Given the description of an element on the screen output the (x, y) to click on. 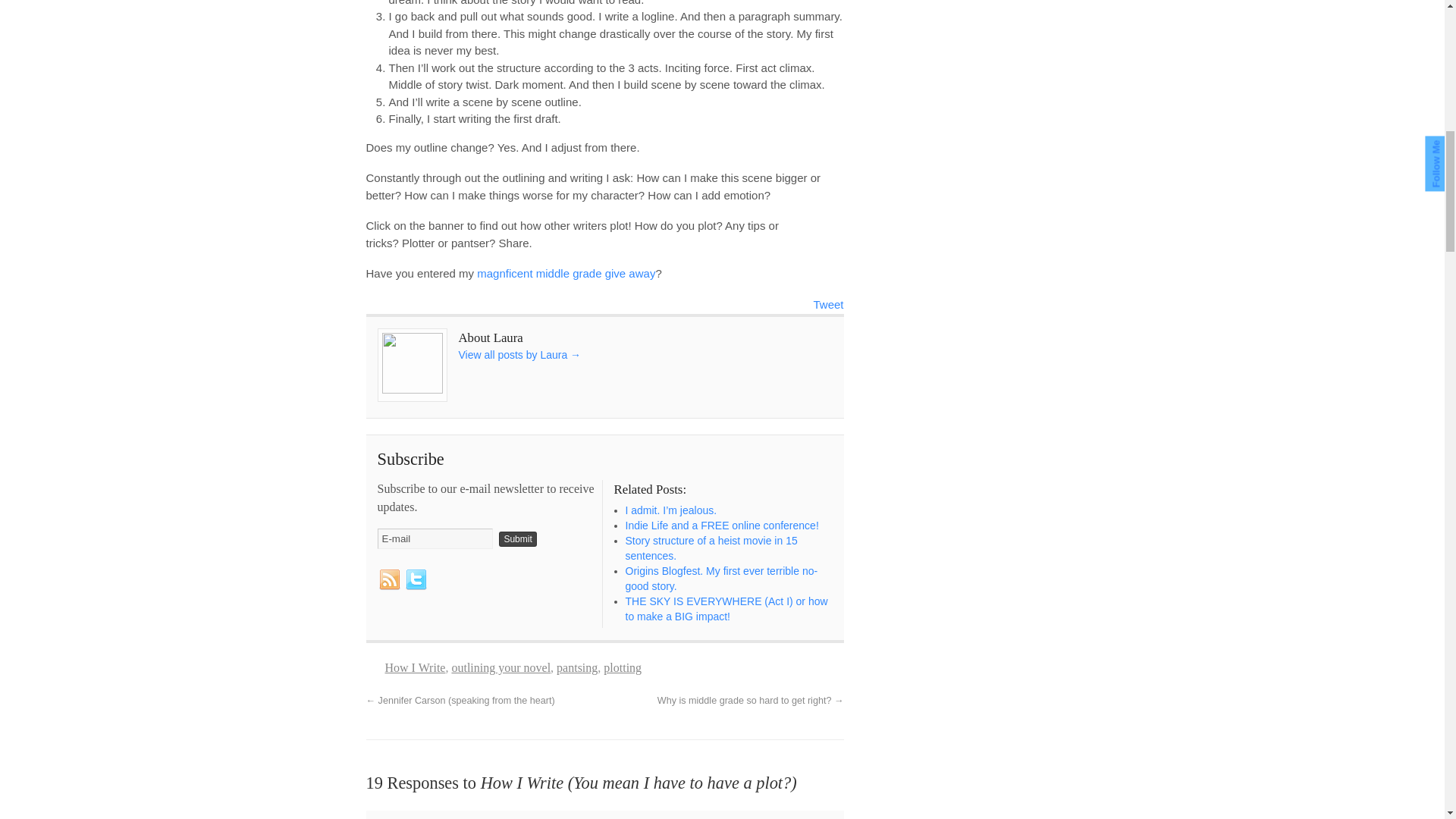
plotting (623, 667)
Origins Blogfest. My first ever terrible no-good story. (720, 578)
Story structure of a heist movie in 15 sentences. (710, 547)
Follow us on Twitter (416, 579)
Indie Life and a FREE online conference! (721, 525)
Tweet (827, 303)
How I Write (415, 667)
Story structure of a heist movie in 15 sentences. (710, 547)
Origins Blogfest. My first ever terrible no-good story. (720, 578)
pantsing (576, 667)
outlining your novel (500, 667)
Submit (517, 539)
magnficent middle grade give away (566, 273)
Subscribe to our RSS feed (389, 579)
E-mail (435, 538)
